Given the description of an element on the screen output the (x, y) to click on. 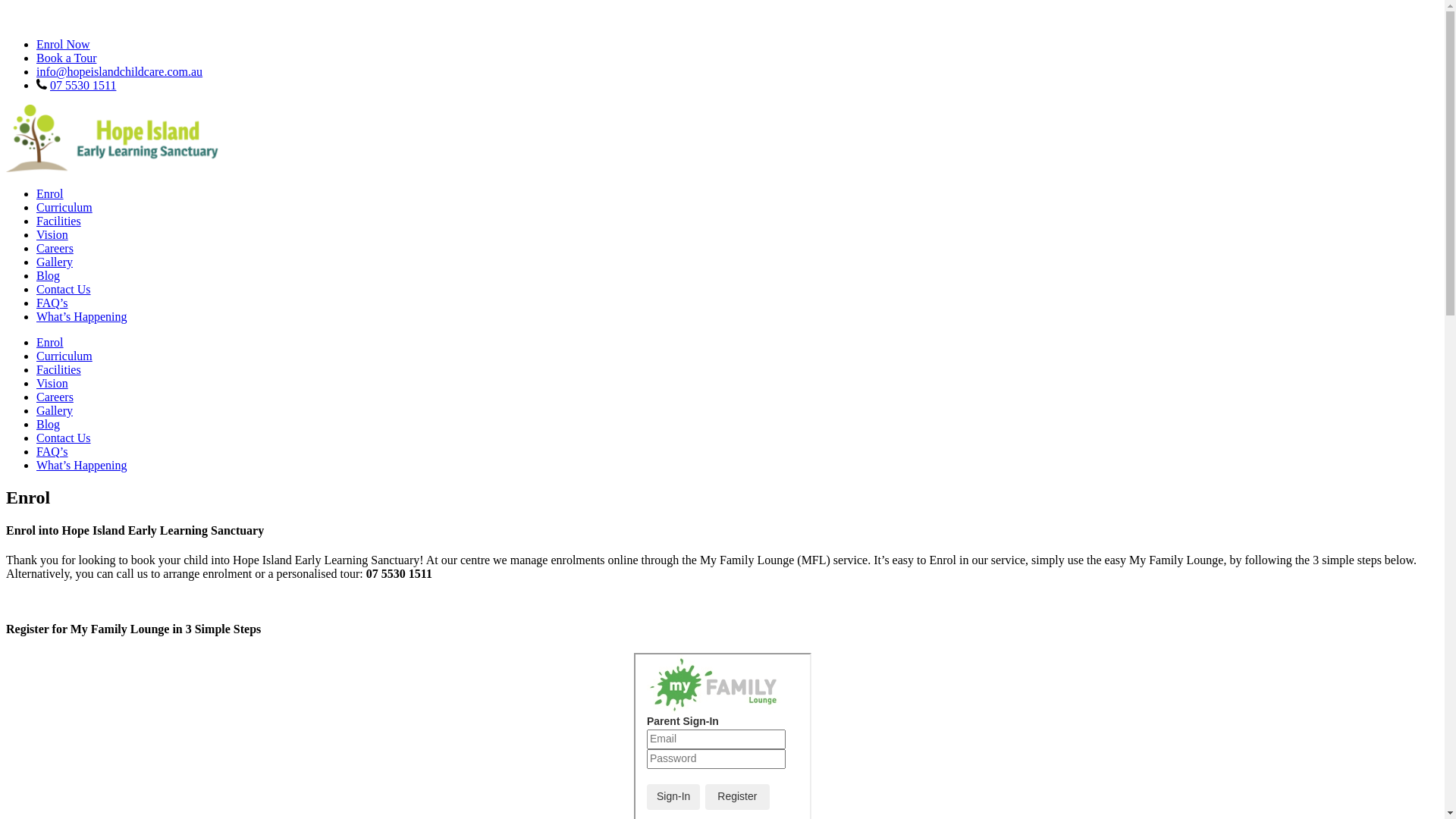
Gallery Element type: text (54, 410)
Curriculum Element type: text (64, 206)
Careers Element type: text (54, 247)
Vision Element type: text (52, 382)
Blog Element type: text (47, 423)
Gallery Element type: text (54, 261)
Facilities Element type: text (58, 369)
07 5530 1511 Element type: text (83, 84)
Enrol Now Element type: text (63, 43)
Contact Us Element type: text (63, 288)
Blog Element type: text (47, 275)
Vision Element type: text (52, 234)
Careers Element type: text (54, 396)
Enrol Element type: text (49, 341)
Enrol Element type: text (49, 193)
Facilities Element type: text (58, 220)
Contact Us Element type: text (63, 437)
info@hopeislandchildcare.com.au Element type: text (119, 71)
Book a Tour Element type: text (66, 57)
Curriculum Element type: text (64, 355)
